Given the description of an element on the screen output the (x, y) to click on. 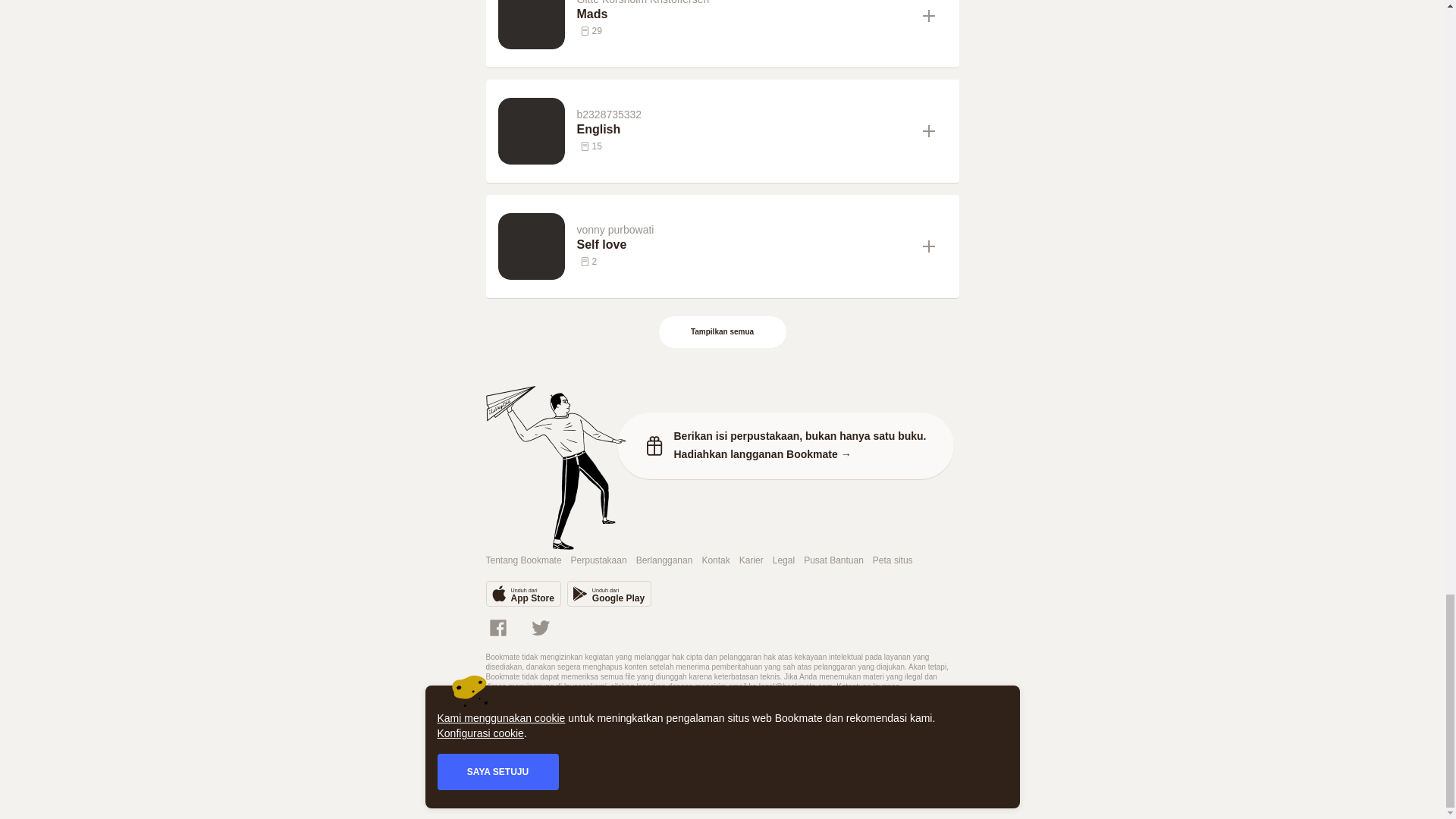
English (743, 129)
Mads (743, 14)
